Given the description of an element on the screen output the (x, y) to click on. 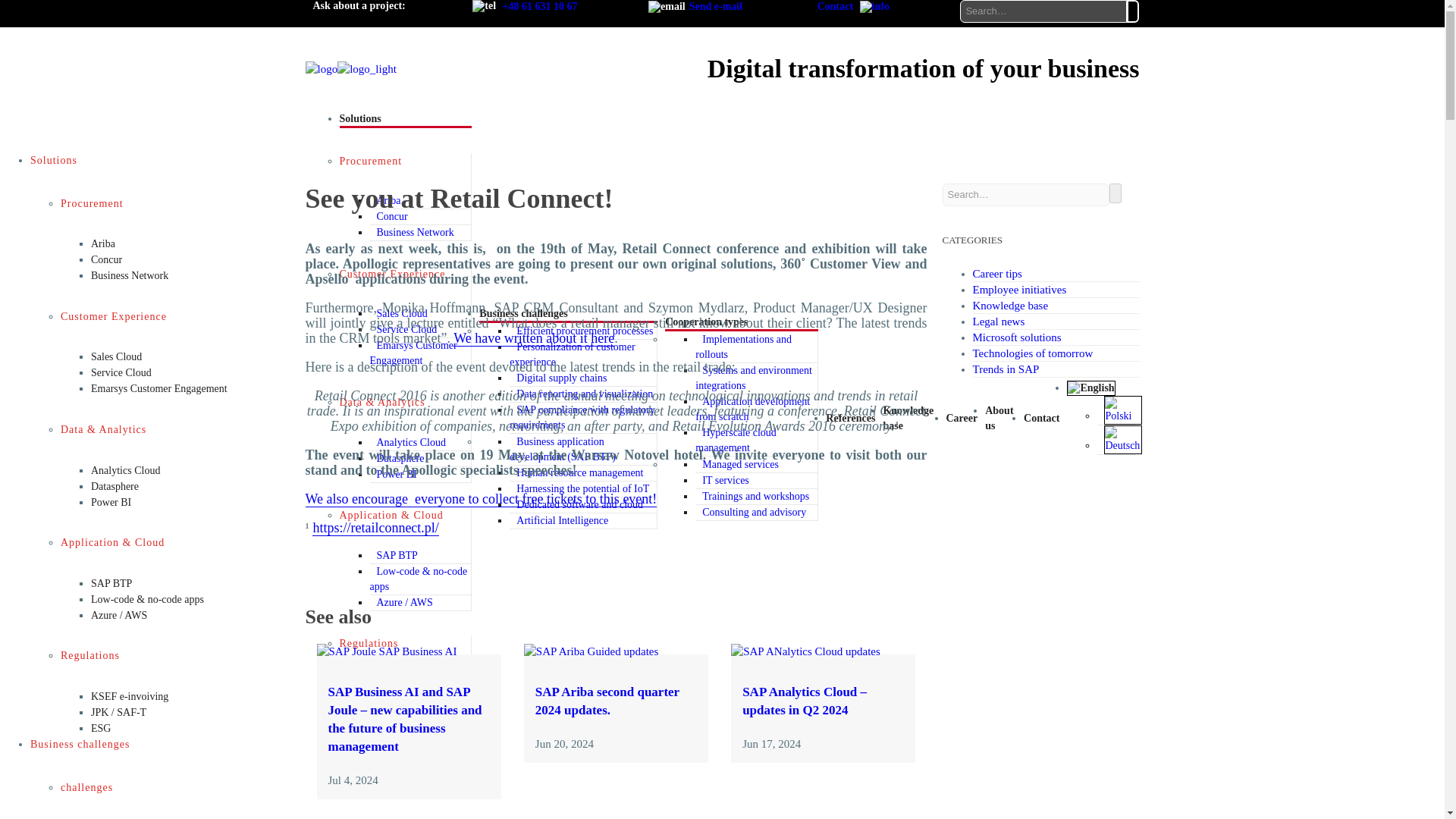
IT services (723, 480)
Harnessing the potential of IoT (579, 488)
Personalization of customer experience (571, 353)
Business challenges (523, 313)
SAP compliance with regulatory requirements (582, 416)
Digital supply chains (558, 377)
SAP Ariba second quarter 2024 updates. (591, 651)
Hyperscale cloud management (735, 439)
Emarsys Customer Engagement (413, 352)
Send e-mail (715, 6)
Managed services (737, 464)
KSEF e-invoiving (412, 683)
Implementations and rollouts (743, 346)
Application development from scratch (752, 408)
Contact (853, 6)
